Given the description of an element on the screen output the (x, y) to click on. 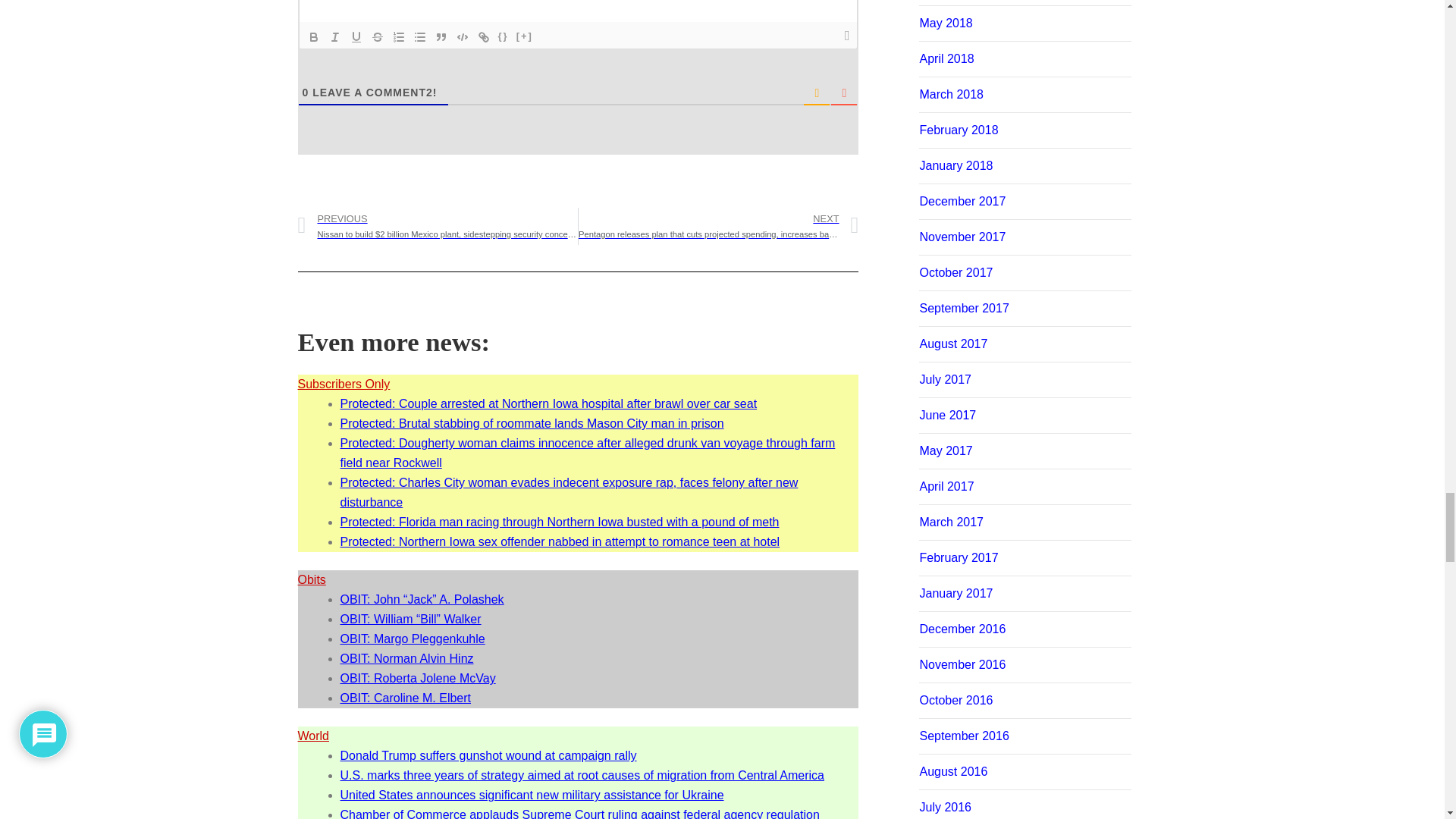
Bold (313, 36)
